Given the description of an element on the screen output the (x, y) to click on. 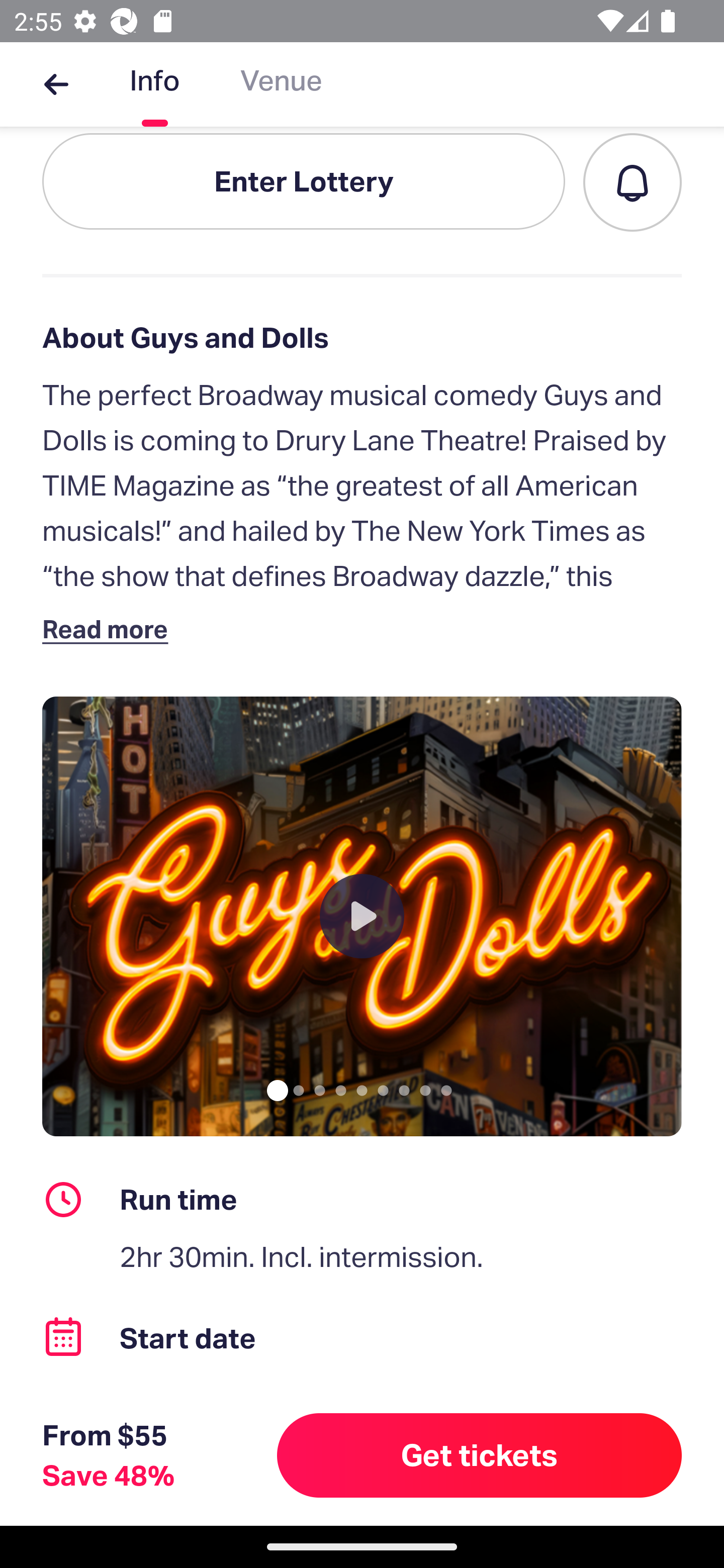
Venue (280, 84)
Enter Lottery (303, 180)
About Guys and Dolls (361, 337)
Read more (109, 628)
Get tickets (479, 1454)
